Given the description of an element on the screen output the (x, y) to click on. 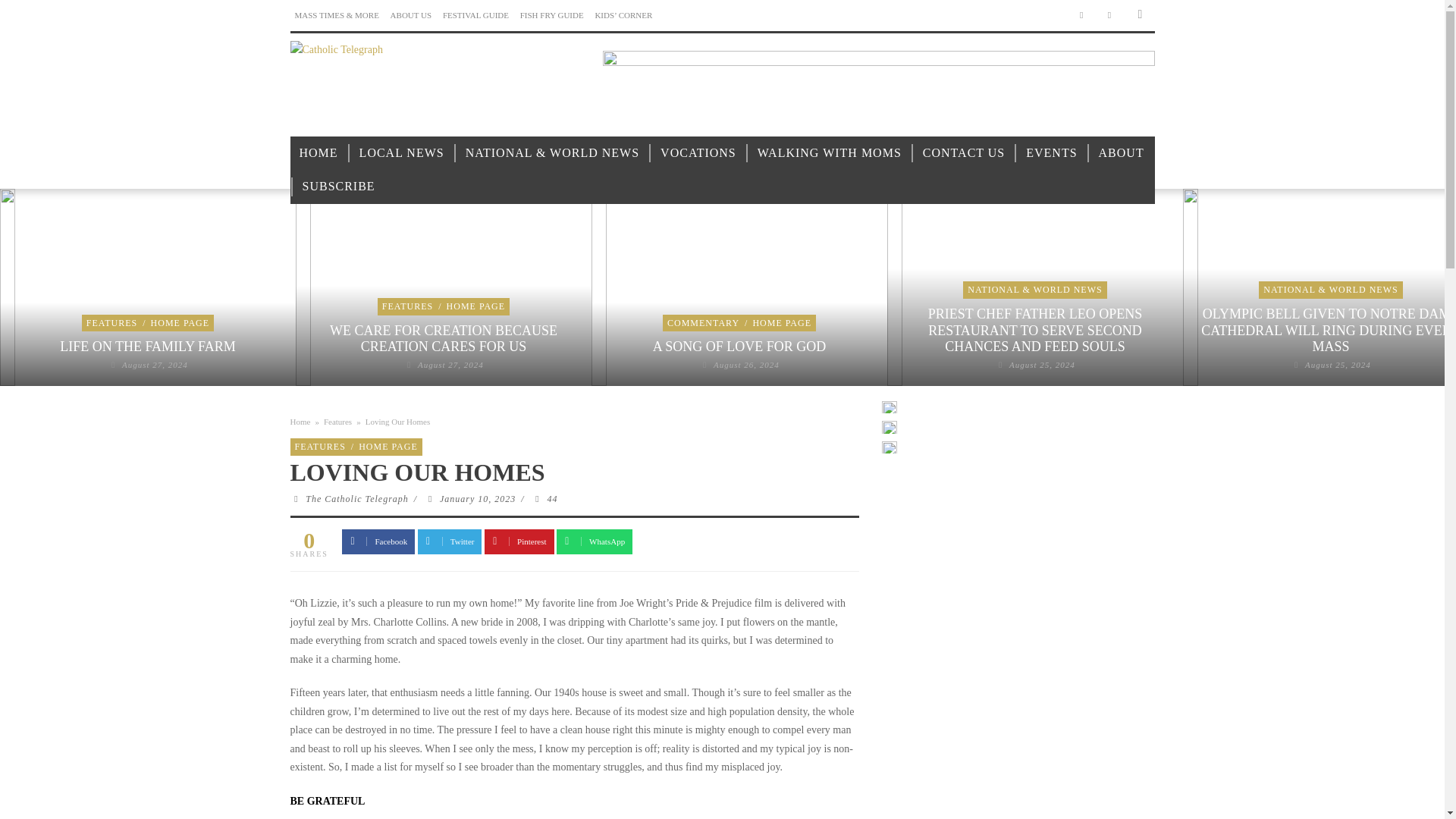
Permalink to Life on the Family Farm (147, 346)
ABOUT (1121, 153)
FISH FRY GUIDE (551, 15)
View all posts in Features (110, 322)
View all posts in Home Page (180, 322)
ABOUT US (410, 15)
View all posts in Home Page (476, 306)
Facebook (1081, 15)
LOCAL NEWS (401, 153)
